Given the description of an element on the screen output the (x, y) to click on. 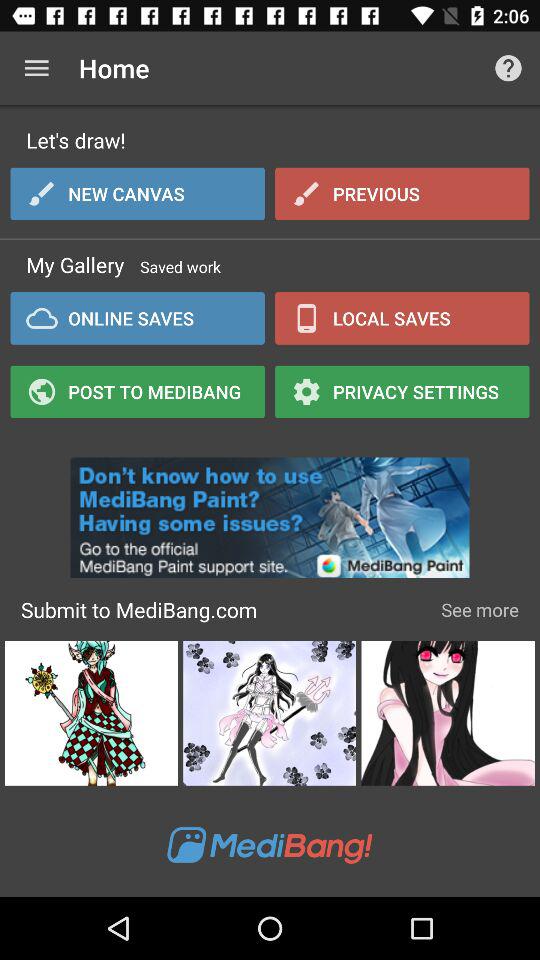
go to site (270, 512)
